Given the description of an element on the screen output the (x, y) to click on. 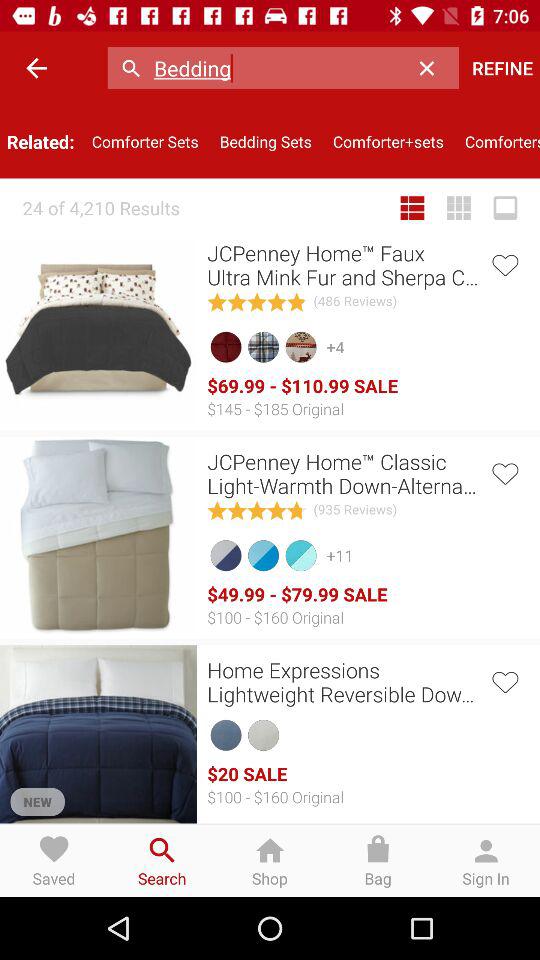
flip to the bedding sets item (265, 141)
